Given the description of an element on the screen output the (x, y) to click on. 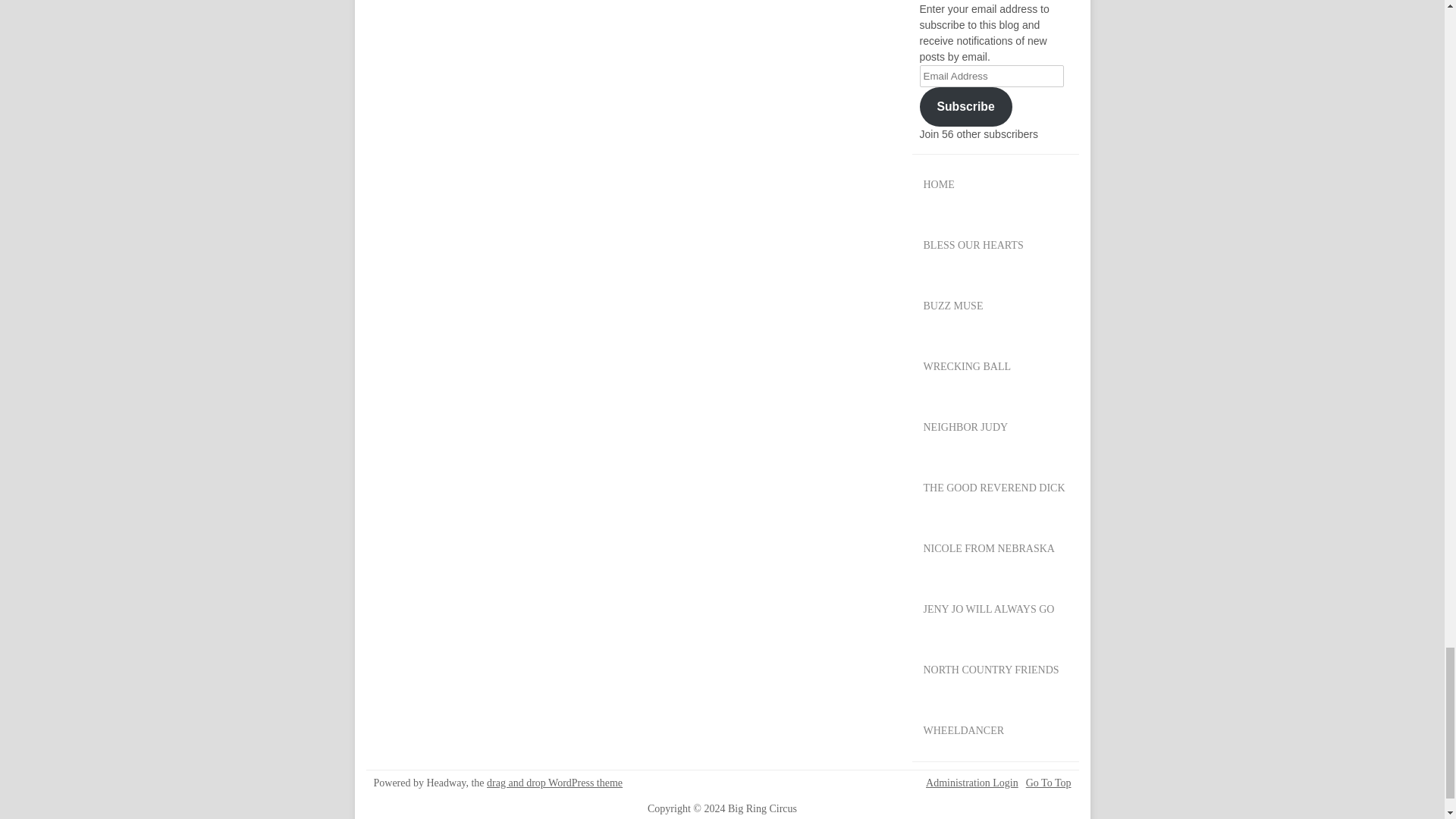
Headway Premium WordPress Theme (554, 782)
